Given the description of an element on the screen output the (x, y) to click on. 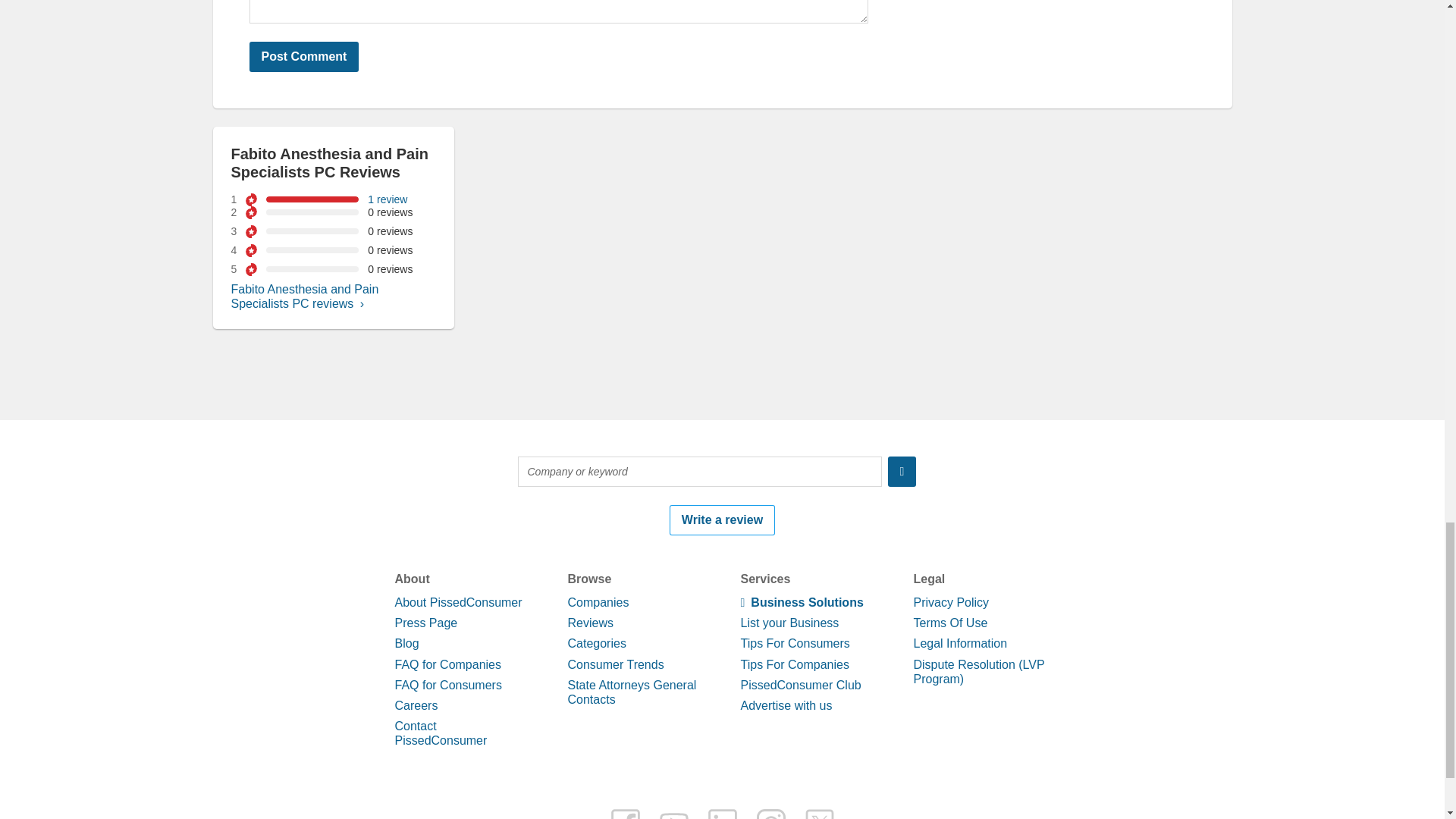
Careers (416, 705)
Write a review (721, 520)
Legal Information (959, 643)
Advertise with us (785, 705)
Consumer Trends (615, 664)
Privacy Policy (950, 602)
FAQ for Companies (447, 664)
Tips For Consumers (793, 643)
FAQ for Consumers (447, 684)
Terms Of Use (949, 622)
Press Page (425, 622)
Fabito Anesthesia and Pain Specialists PC reviews (304, 296)
linkedin (721, 813)
About PissedConsumer (457, 602)
